Given the description of an element on the screen output the (x, y) to click on. 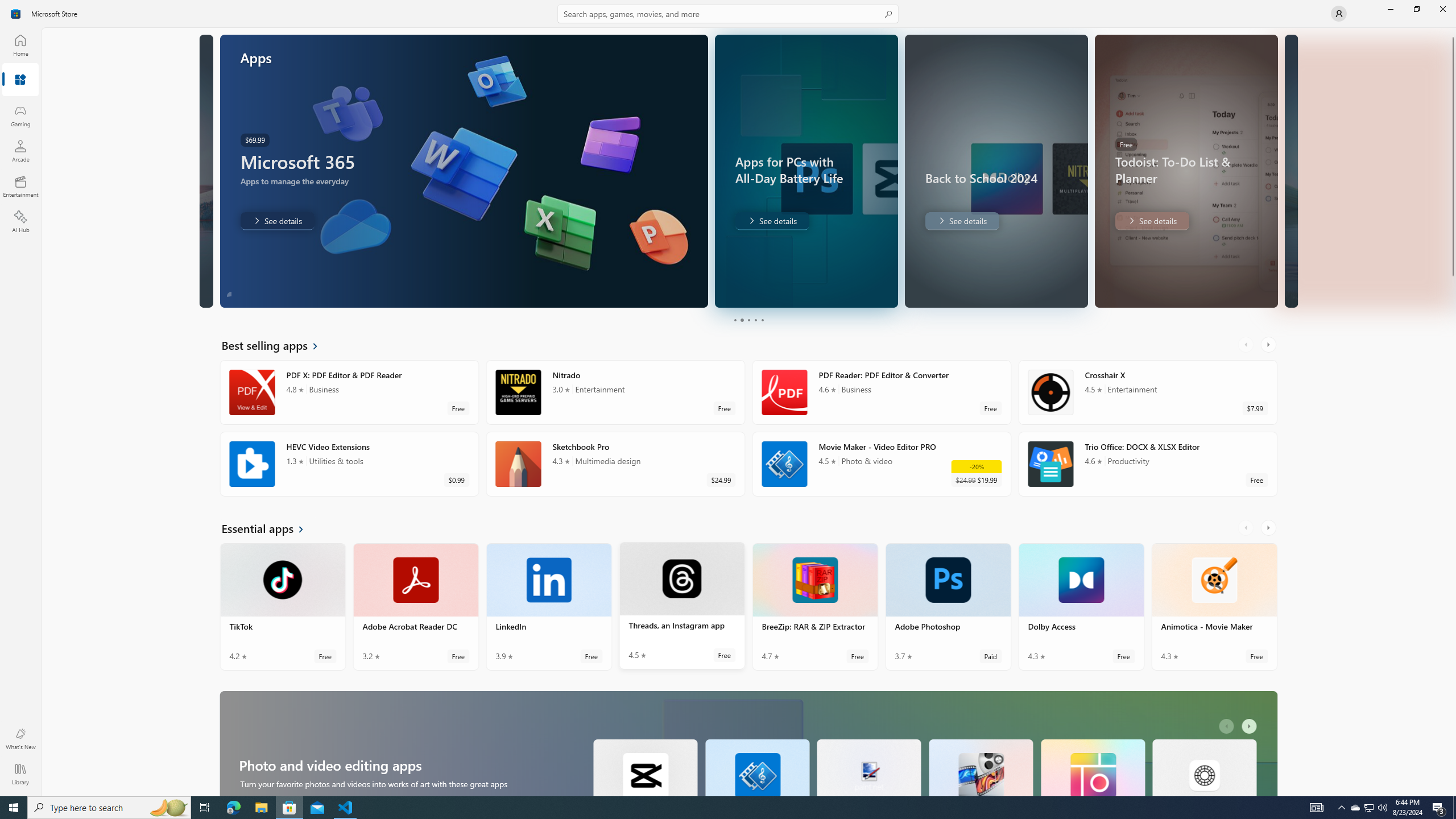
Vertical Large Increase (1452, 641)
Restore Microsoft Store (1416, 9)
iCloud. Average rating of 2.7 out of five stars. Free   (1146, 454)
Apps (20, 80)
CapCut. Average rating of 4.7 out of five stars. Free   (644, 110)
What's New (20, 738)
iTunes. Average rating of 2.5 out of five stars. Free   (349, 454)
AutomationID: LeftScrollButton (1227, 784)
AI Hub (20, 221)
See all  Photo and video editing apps (274, 126)
Search (727, 13)
Gaming (20, 115)
